Given the description of an element on the screen output the (x, y) to click on. 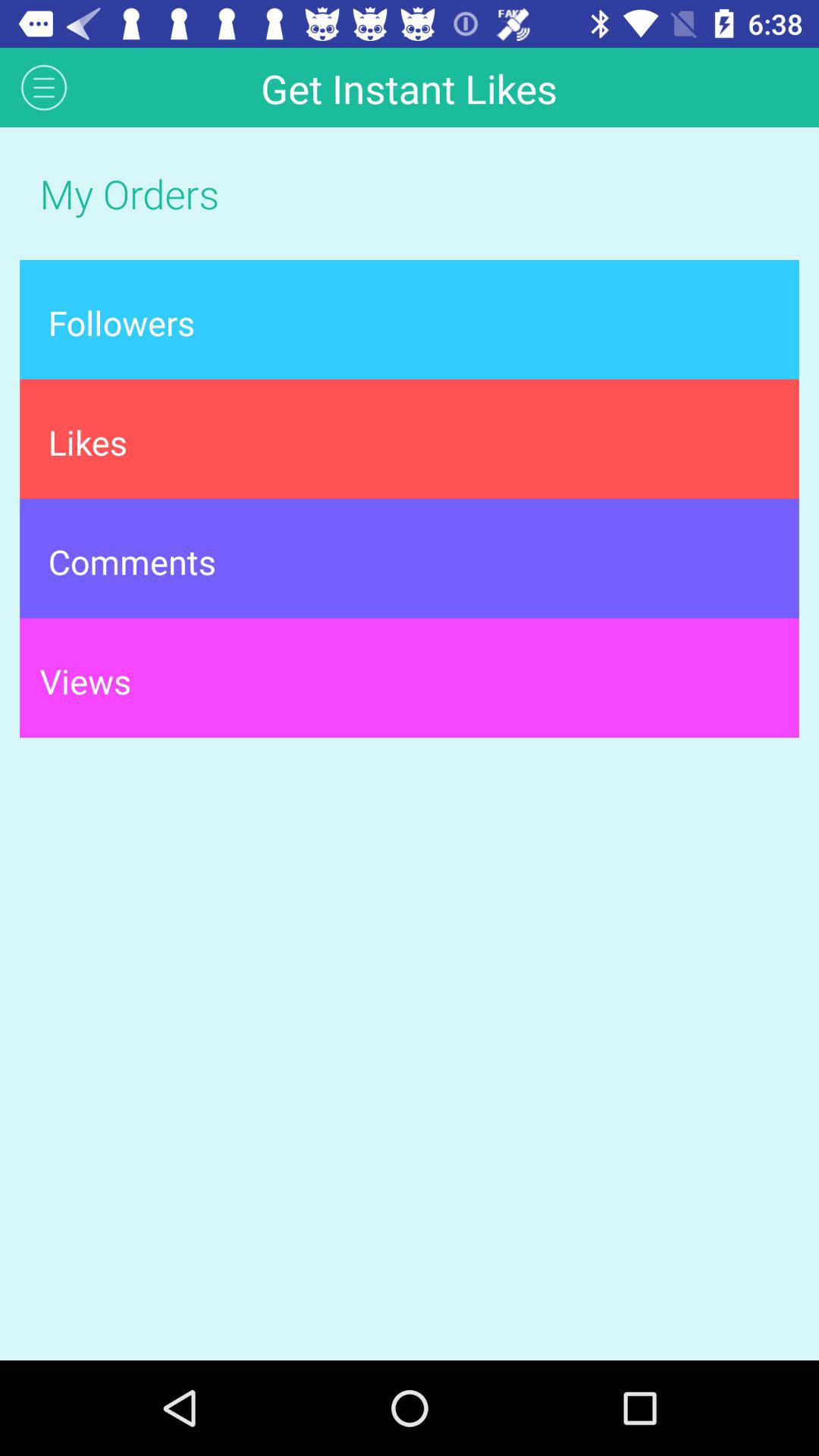
turn on the app above  likes item (409, 319)
